Given the description of an element on the screen output the (x, y) to click on. 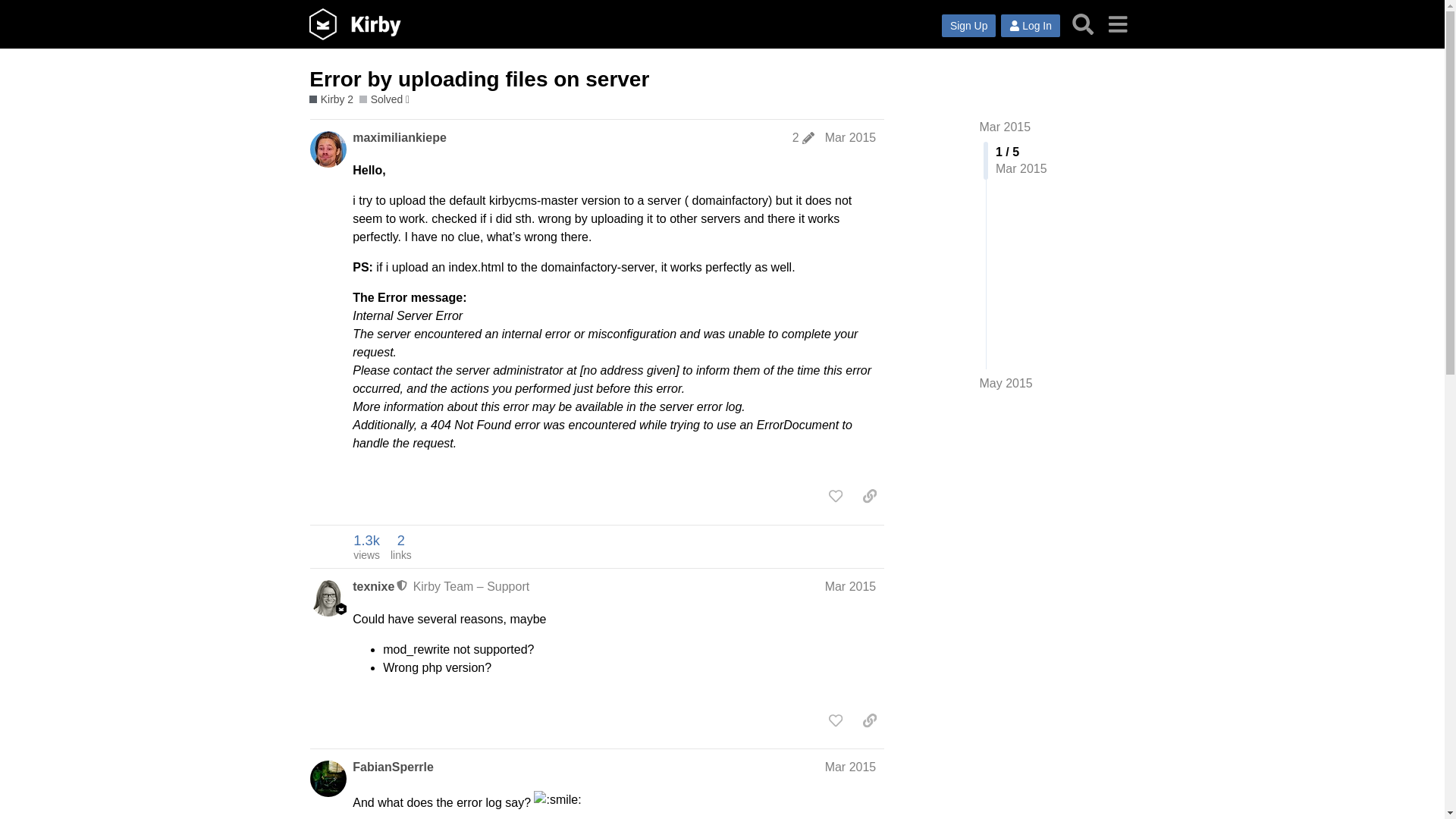
Mar 2015 (850, 137)
Search (1082, 23)
Post date (850, 585)
Jump to the last post (1005, 382)
2 (802, 137)
Post all Kirby 2-related questions, issues and plugins here. (330, 99)
Log In (366, 546)
Jump to the first post (1030, 25)
maximiliankiepe (1004, 126)
